Given the description of an element on the screen output the (x, y) to click on. 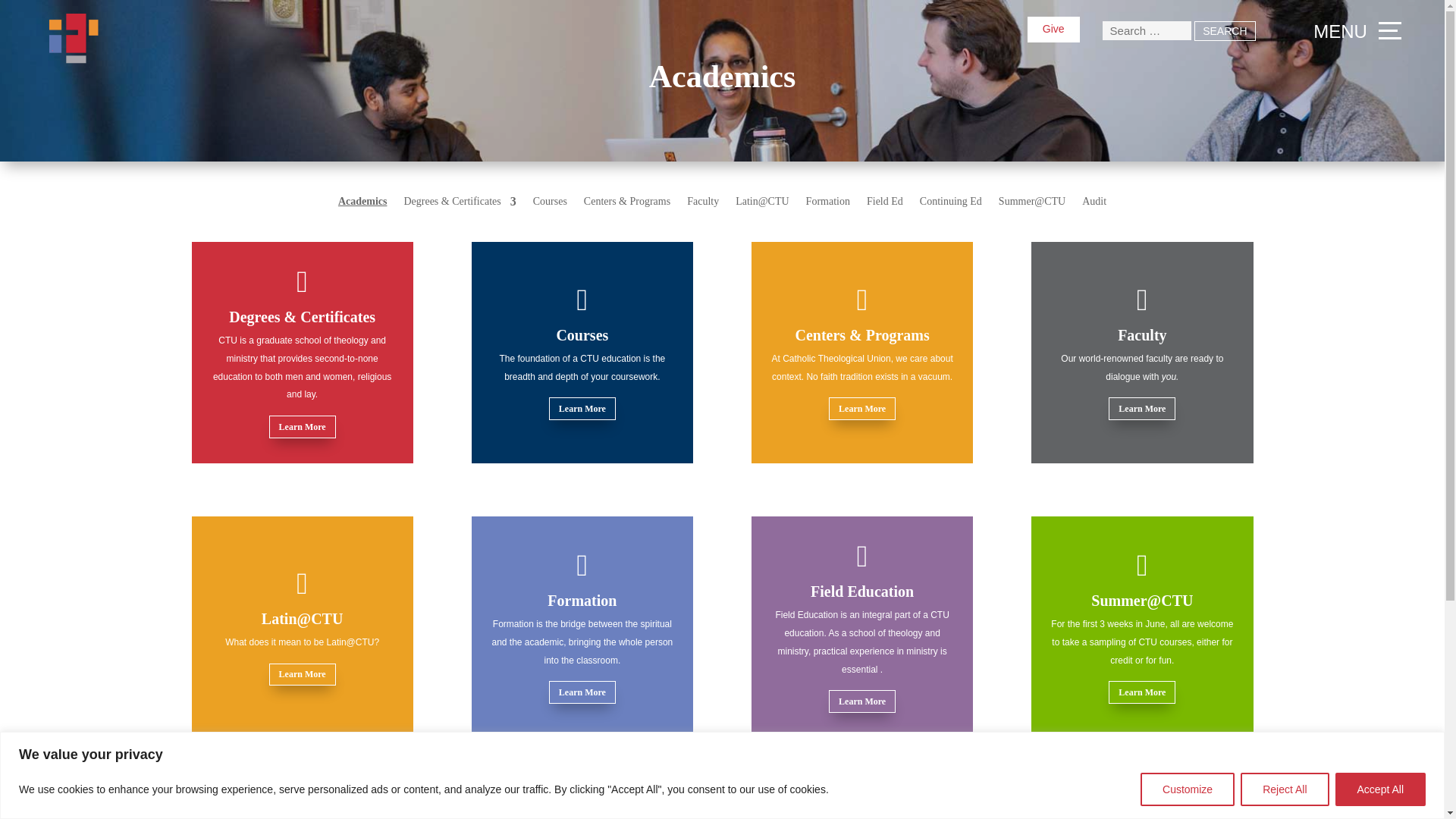
Accept All (1380, 788)
Search for: (1147, 30)
Give (1053, 28)
MENU (1354, 30)
SEARCH (1224, 30)
SEARCH (1224, 30)
Open full menu (1354, 30)
SEARCH (1224, 30)
Customize (1187, 788)
Reject All (1283, 788)
